Given the description of an element on the screen output the (x, y) to click on. 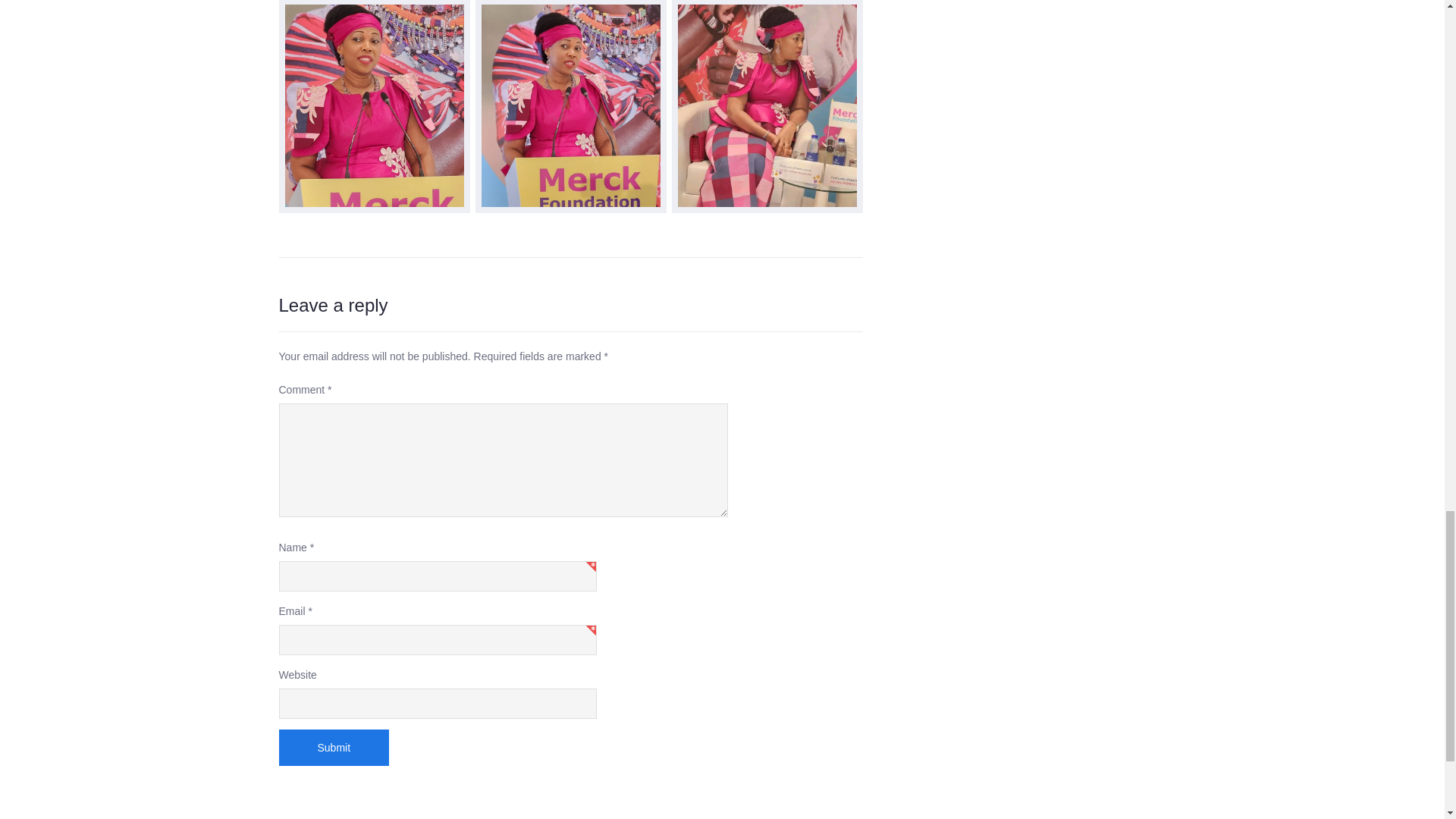
Submit (334, 747)
Submit (334, 747)
